Given the description of an element on the screen output the (x, y) to click on. 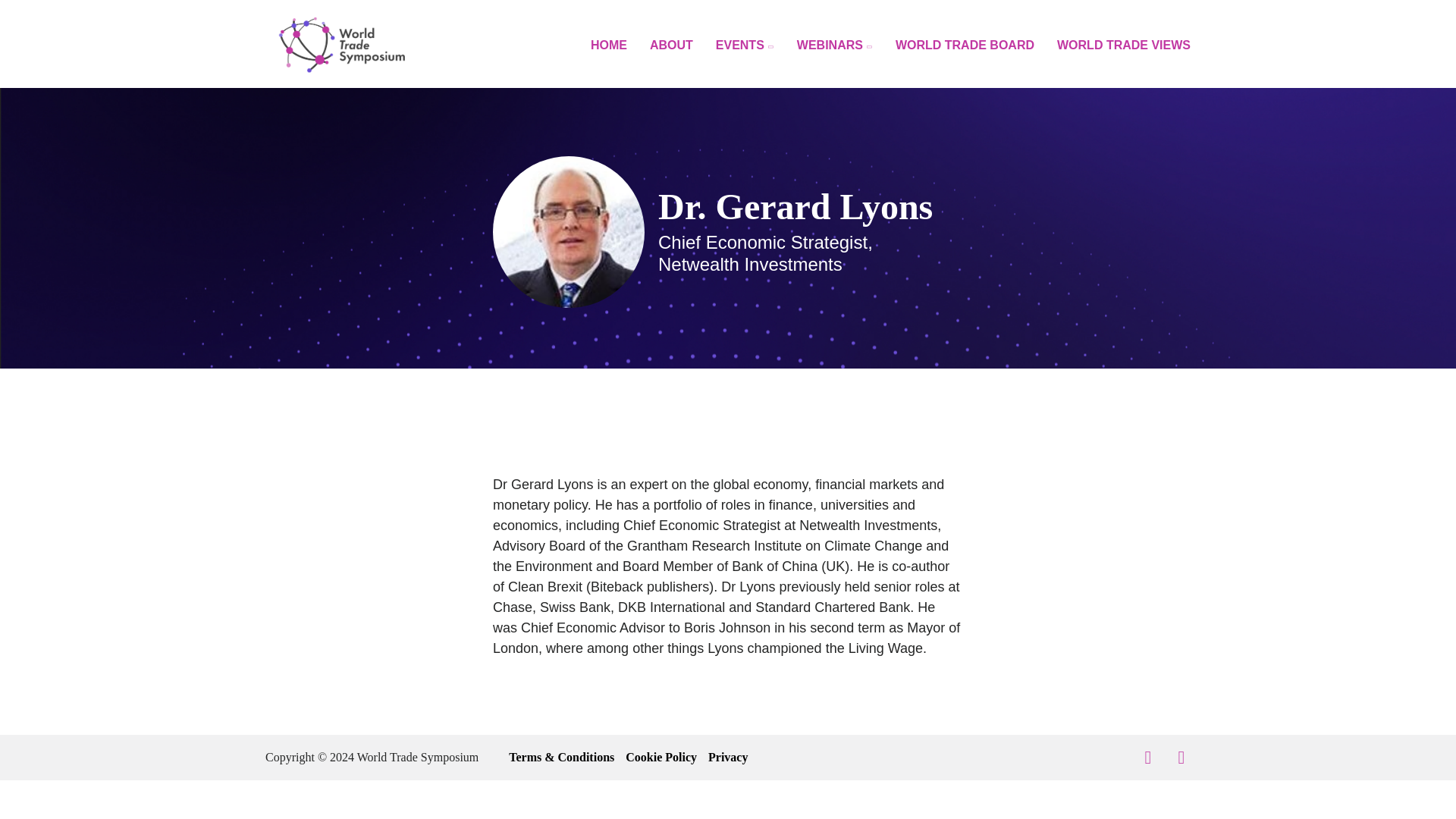
Privacy (727, 757)
Twitter (1147, 757)
WEBINARS (834, 45)
WORLD TRADE VIEWS (1124, 45)
EVENTS (745, 45)
WORLD TRADE BOARD (964, 45)
HOME (609, 45)
Cookie Policy (661, 757)
LinkedIn (1181, 757)
ABOUT (671, 45)
